Given the description of an element on the screen output the (x, y) to click on. 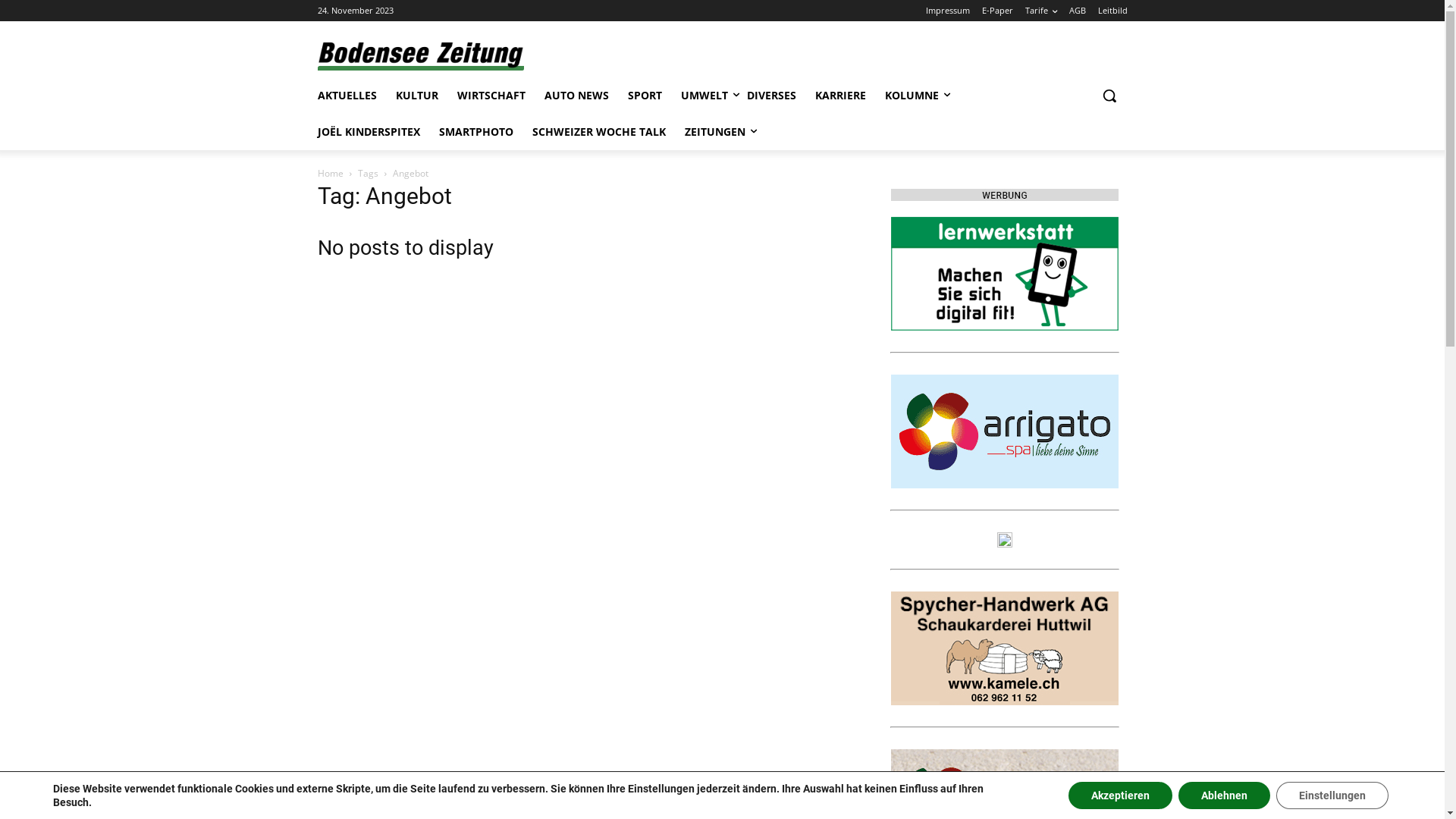
E-Paper Element type: text (996, 10)
Akzeptieren Element type: text (1120, 795)
Lernwerkstatt Element type: hover (1003, 273)
AGB Element type: text (1077, 10)
AKTUELLES Element type: text (346, 95)
KULTUR Element type: text (416, 95)
WIRTSCHAFT Element type: text (490, 95)
AUTO NEWS Element type: text (576, 95)
SCHWEIZER WOCHE TALK Element type: text (598, 131)
smartphoto Element type: hover (1003, 539)
Ablehnen Element type: text (1224, 795)
UMWELT Element type: text (704, 95)
DIVERSES Element type: text (770, 95)
KOLUMNE Element type: text (911, 95)
Impressum Element type: text (947, 10)
Tarife Element type: text (1041, 10)
Home Element type: text (329, 172)
SPORT Element type: text (644, 95)
KARRIERE Element type: text (839, 95)
Einstellungen Element type: text (1332, 795)
SMARTPHOTO Element type: text (475, 131)
Arrigato GmbH Element type: hover (1003, 431)
ZEITUNGEN Element type: text (714, 131)
Leitbild Element type: text (1112, 10)
Spycher Handwerk AG Element type: hover (1003, 648)
